Given the description of an element on the screen output the (x, y) to click on. 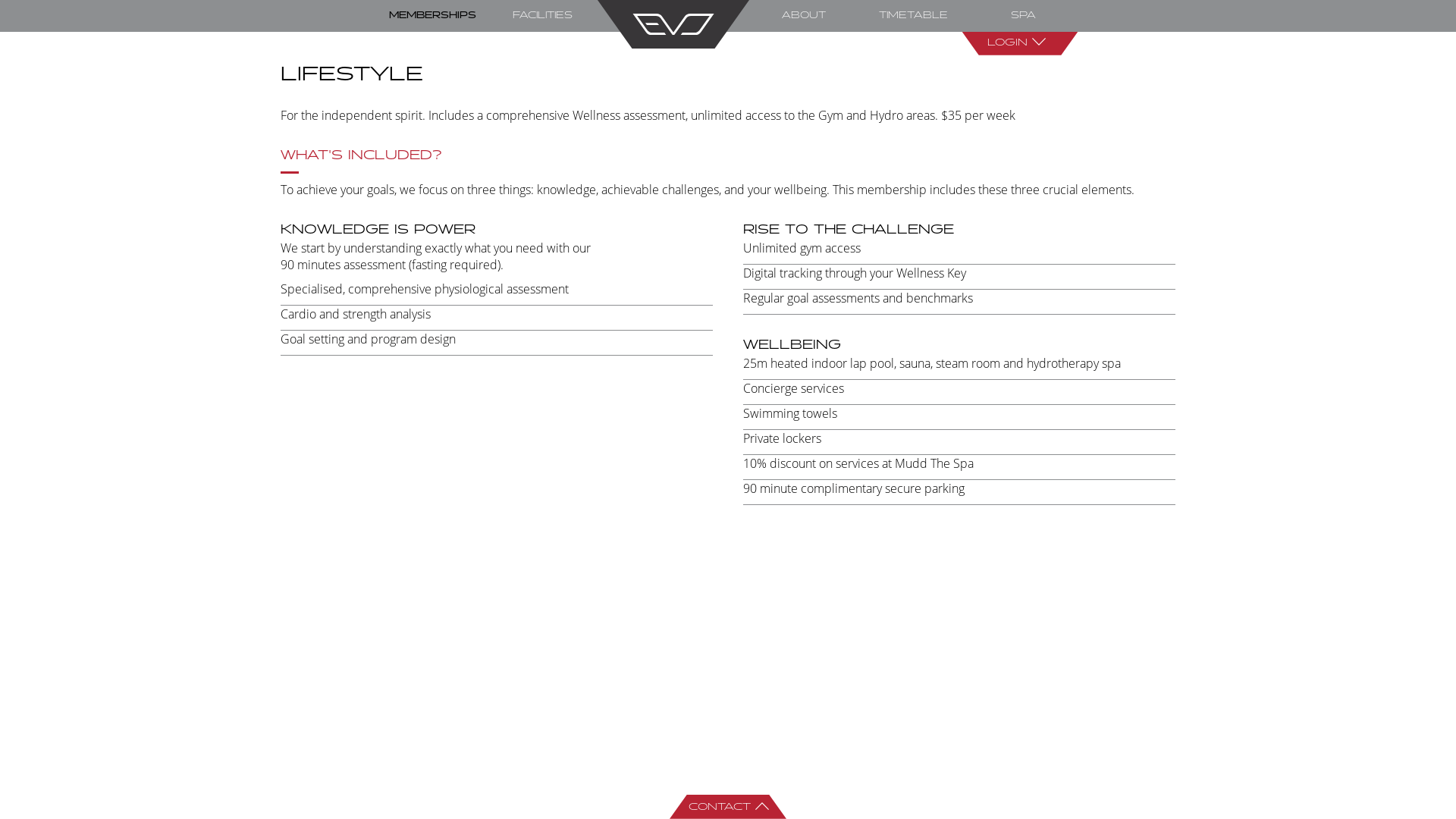
MEMBERSHIPS Element type: text (432, 15)
HOME Element type: text (673, 24)
FACILITIES Element type: text (542, 15)
LOGIN Element type: text (1019, 43)
ABOUT Element type: text (804, 15)
TIMETABLE Element type: text (913, 15)
SPA Element type: text (1023, 15)
